Given the description of an element on the screen output the (x, y) to click on. 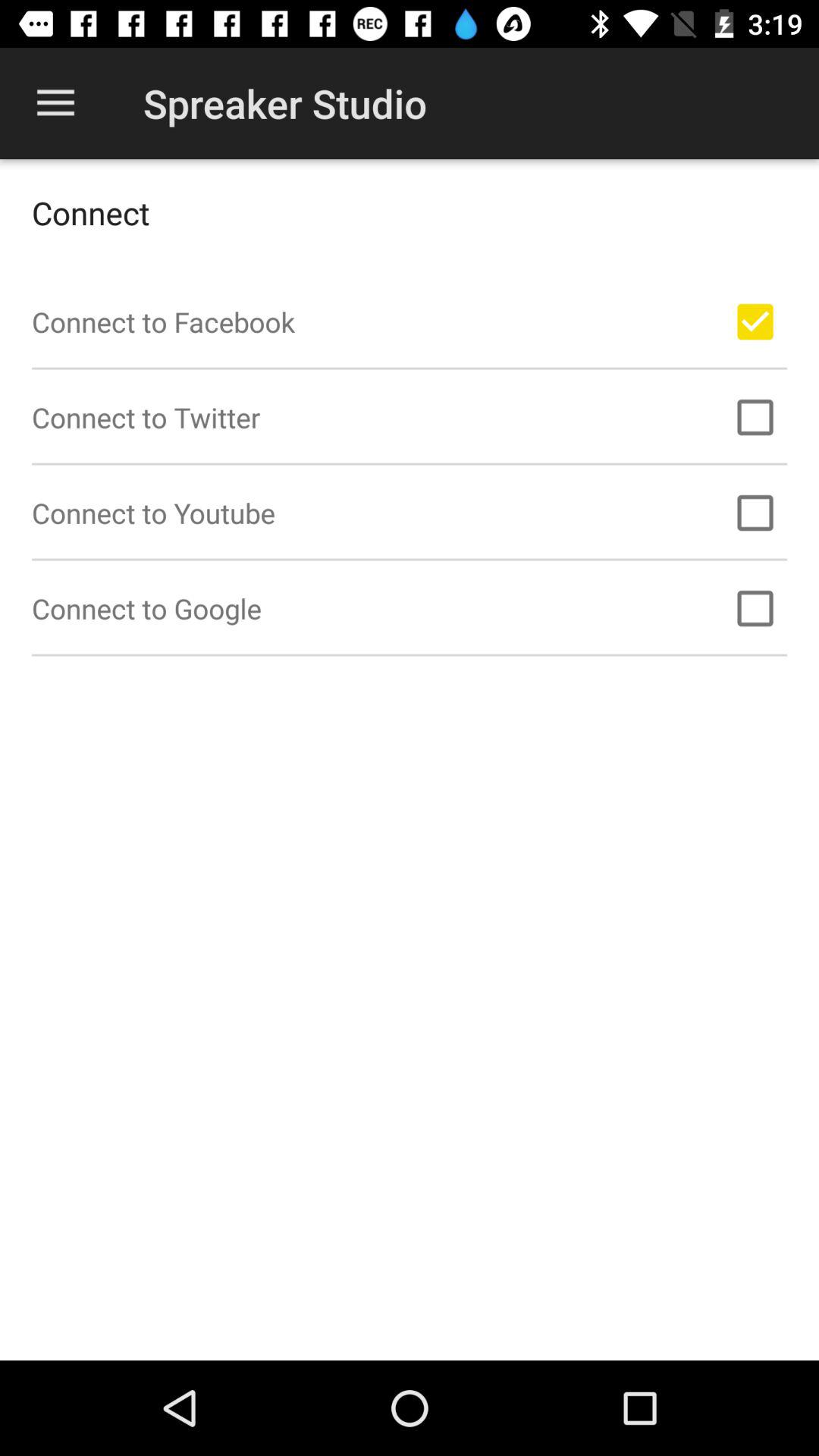
connect to youtube (755, 512)
